Given the description of an element on the screen output the (x, y) to click on. 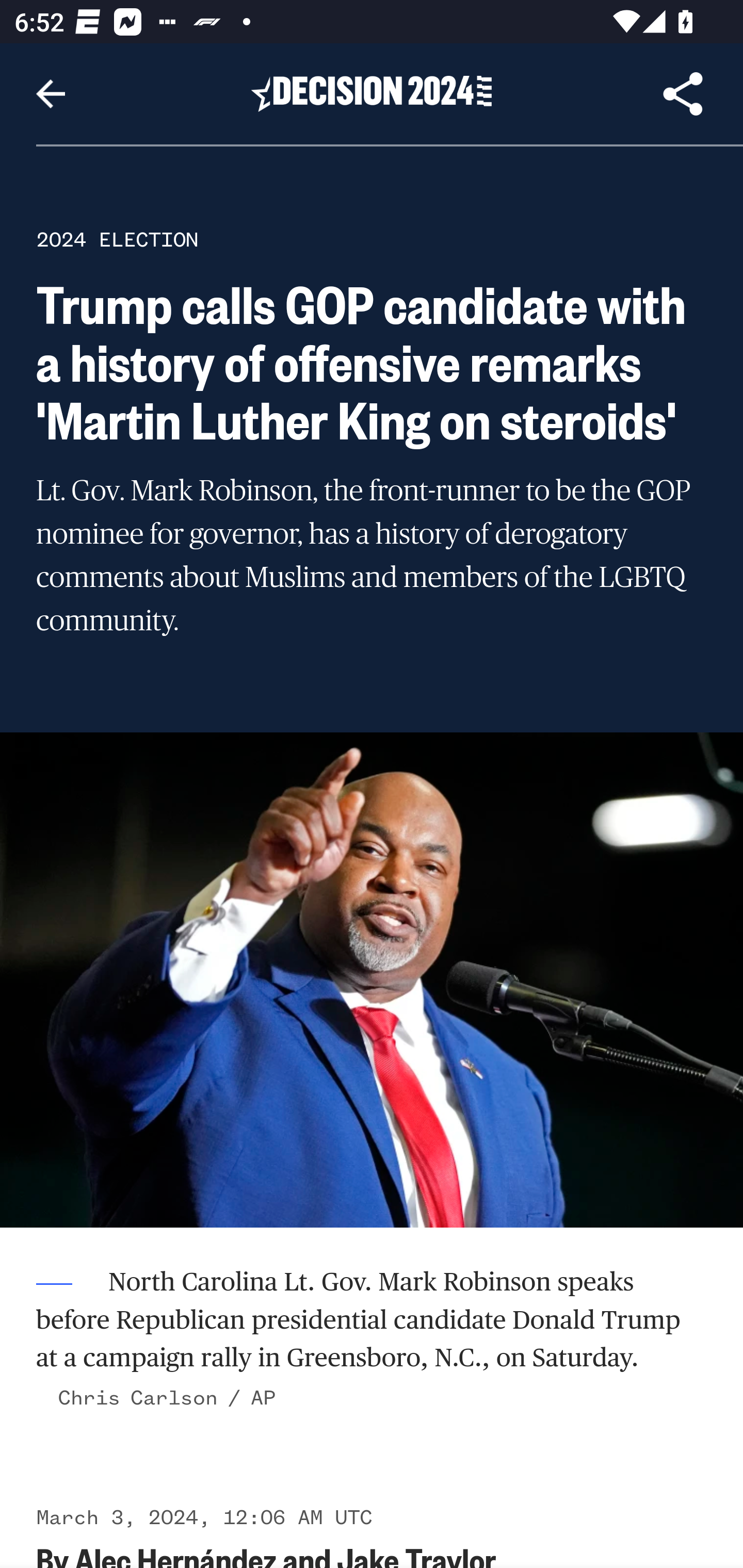
Navigate up (50, 93)
Share Article, button (683, 94)
Header, Decision 2024 (371, 93)
2024 ELECTION (117, 239)
